Given the description of an element on the screen output the (x, y) to click on. 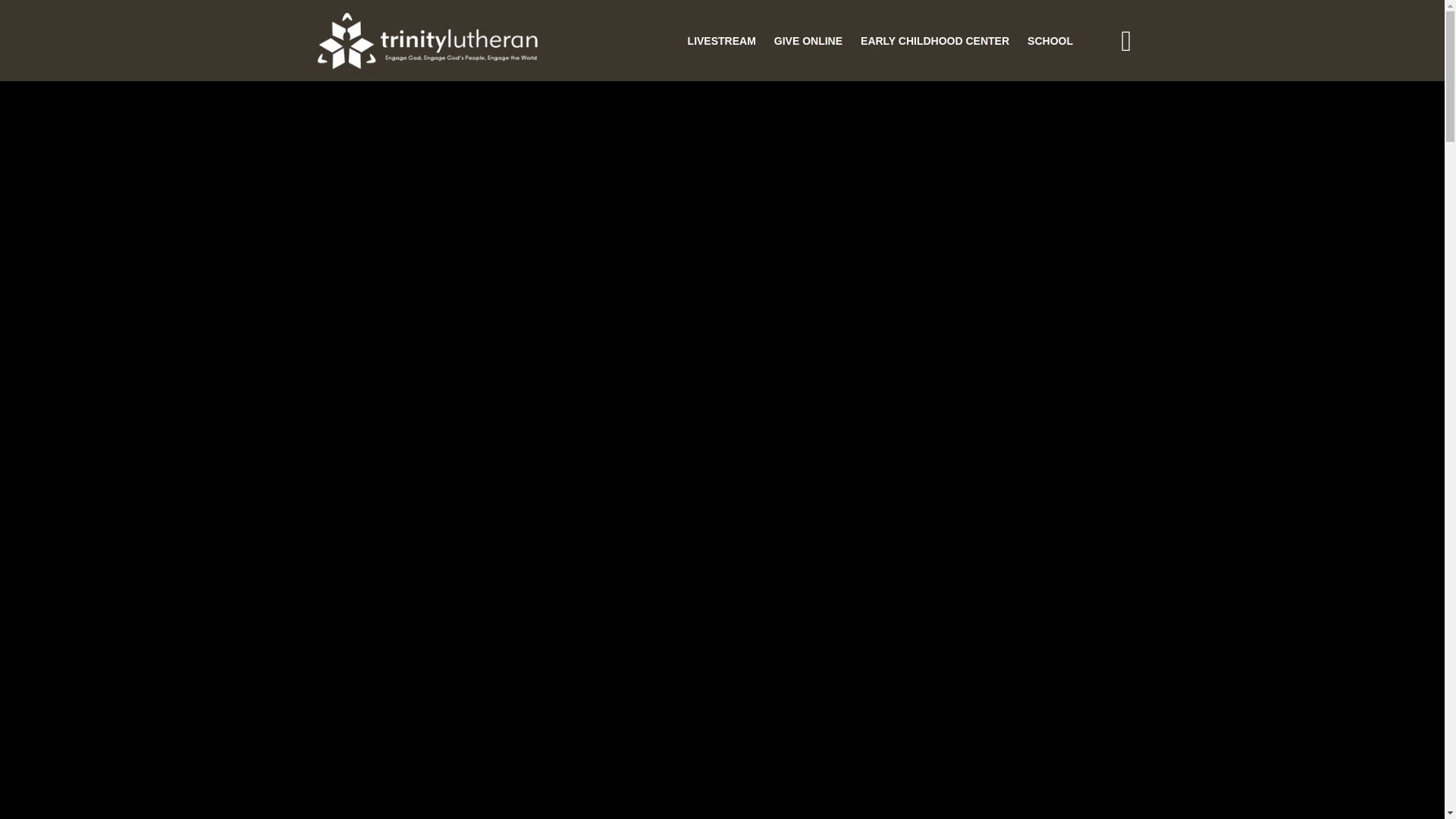
Livestream (721, 40)
Give Online (808, 40)
SCHOOL (1050, 40)
GIVE ONLINE (808, 40)
Early Childhood Center (934, 40)
LIVESTREAM (721, 40)
EARLY CHILDHOOD CENTER (934, 40)
School (1050, 40)
